Given the description of an element on the screen output the (x, y) to click on. 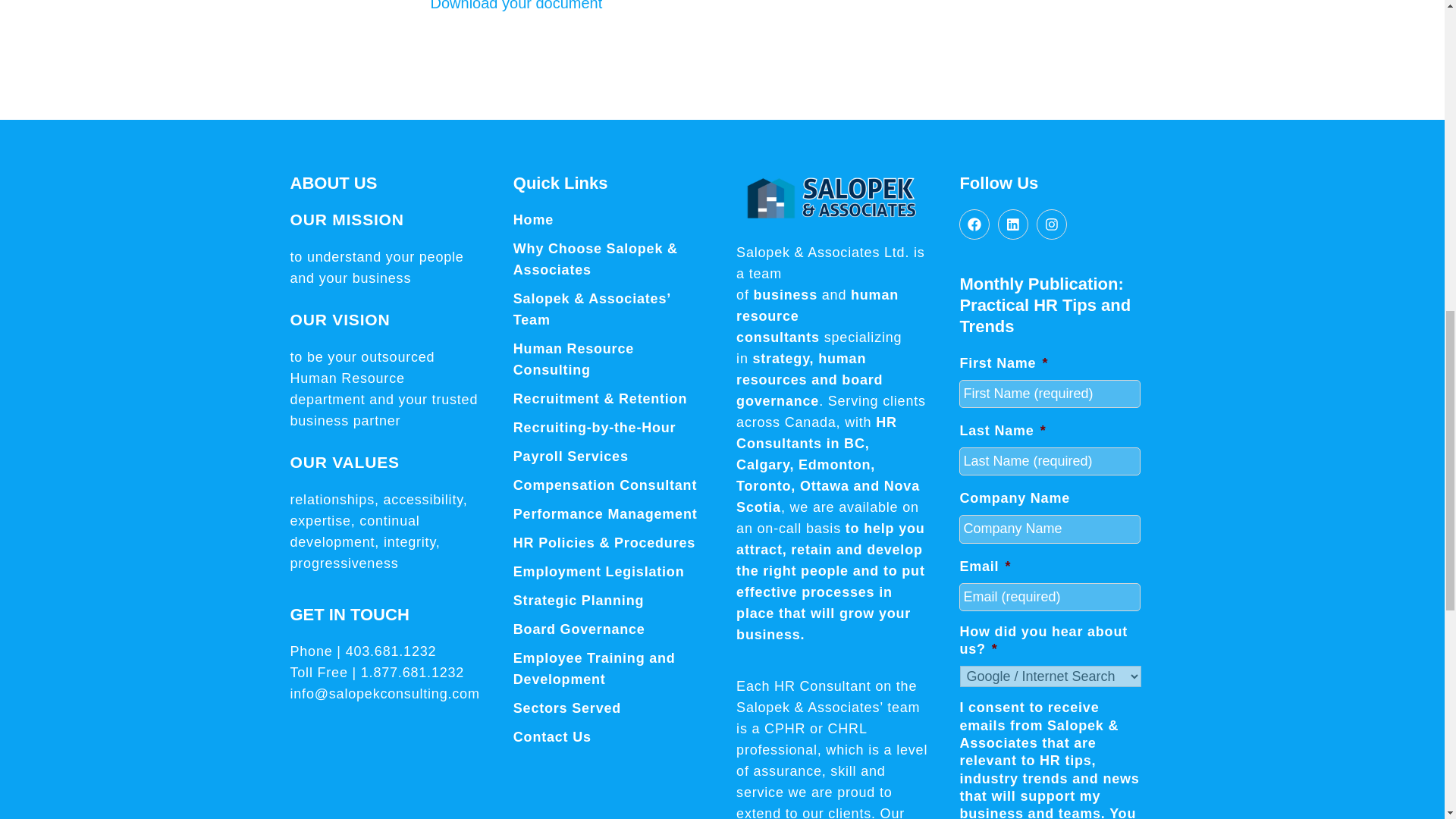
instagram (1051, 224)
linkedin (1012, 224)
facebook (974, 224)
